Given the description of an element on the screen output the (x, y) to click on. 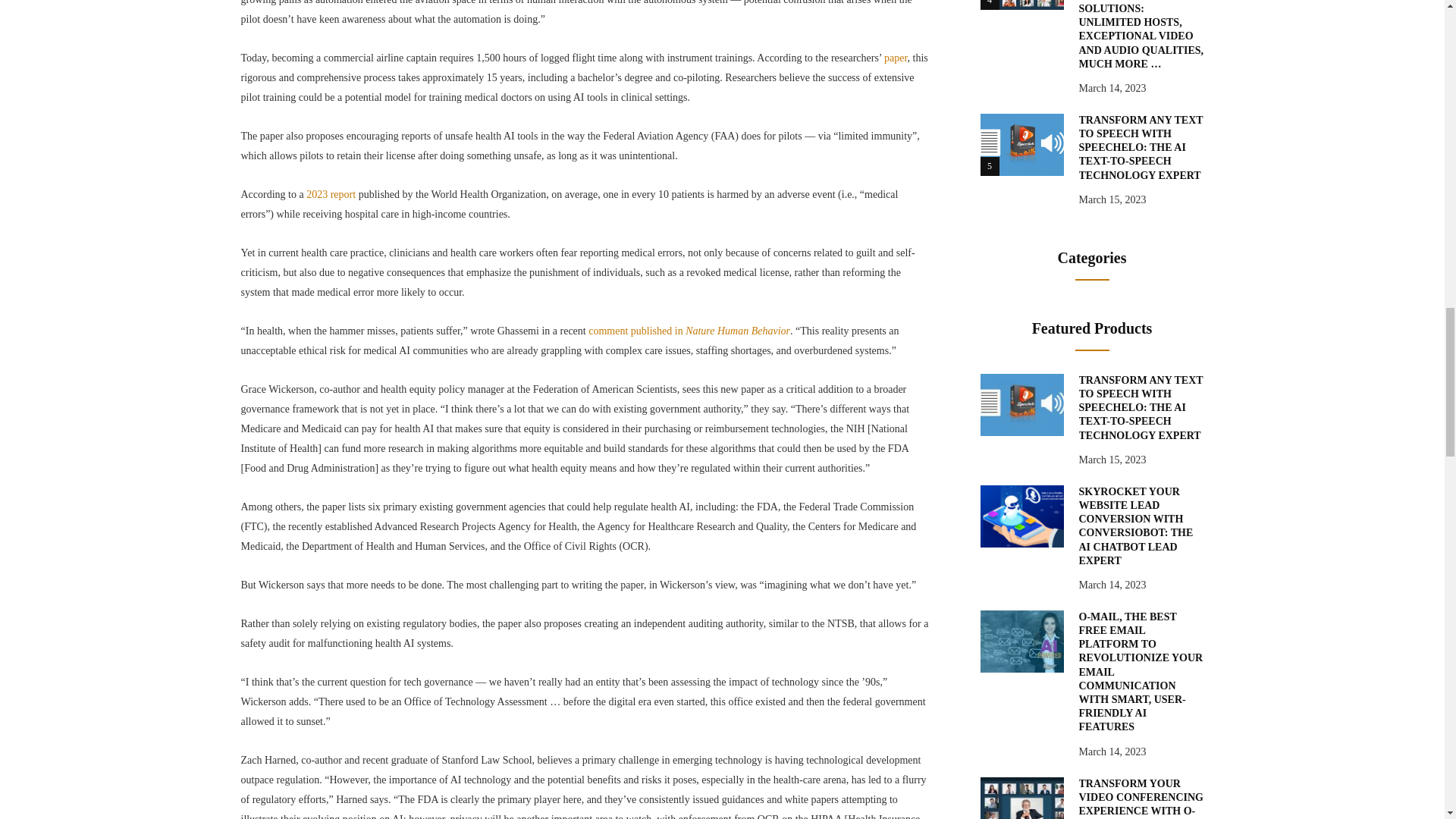
comment published in Nature Human Behavior (689, 330)
2023 report (330, 194)
paper (895, 57)
